Given the description of an element on the screen output the (x, y) to click on. 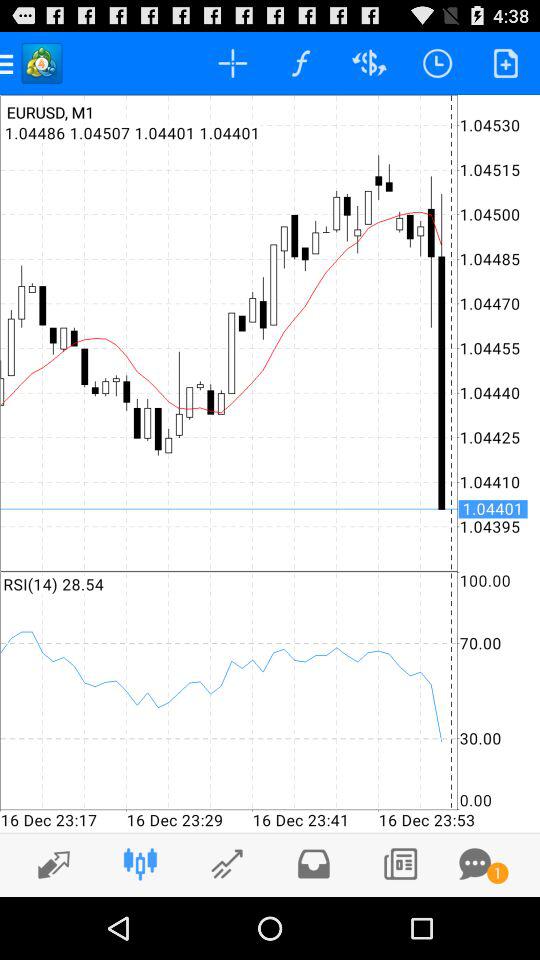
open messages (475, 864)
